Given the description of an element on the screen output the (x, y) to click on. 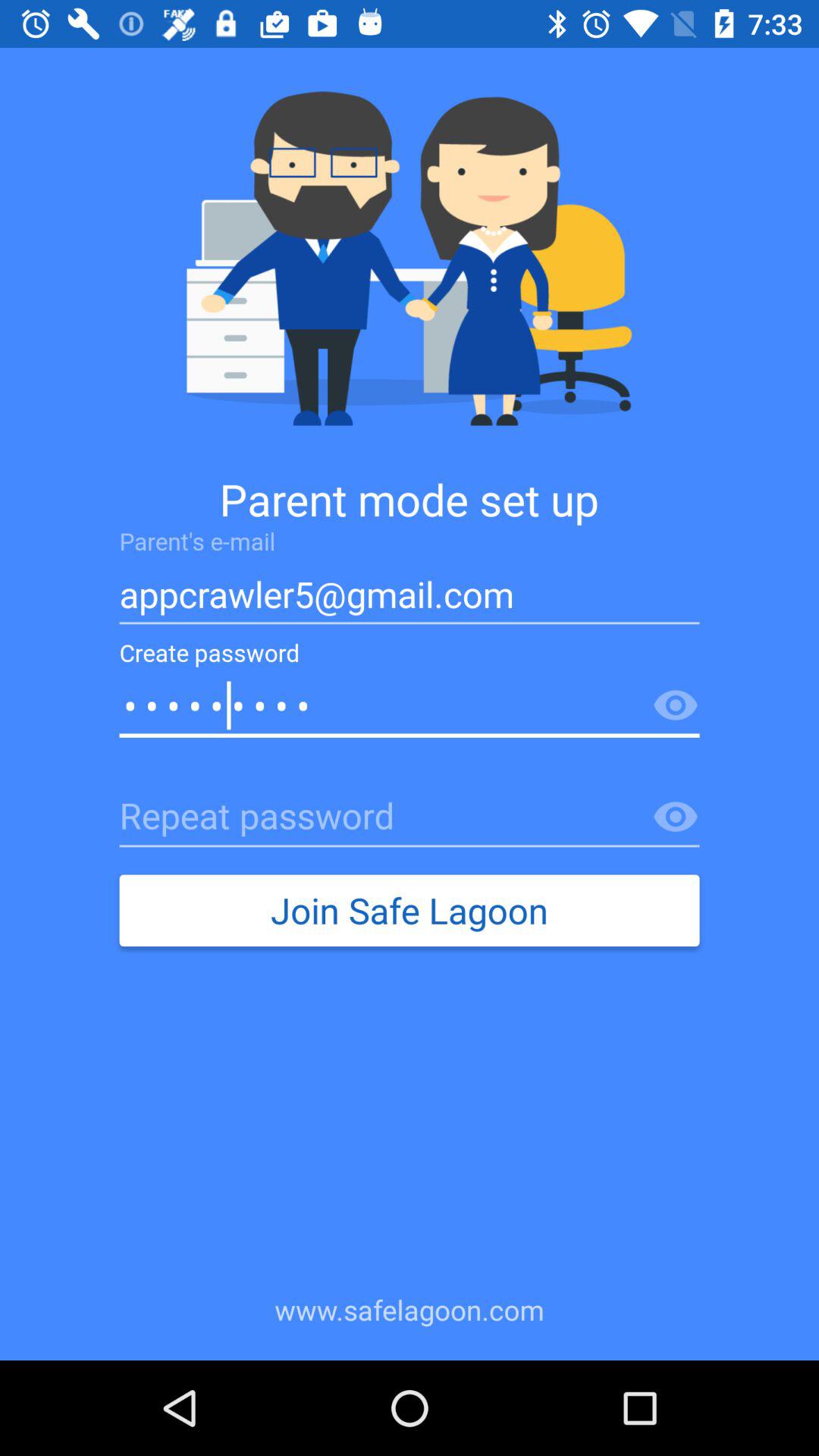
repeat password box (409, 817)
